Given the description of an element on the screen output the (x, y) to click on. 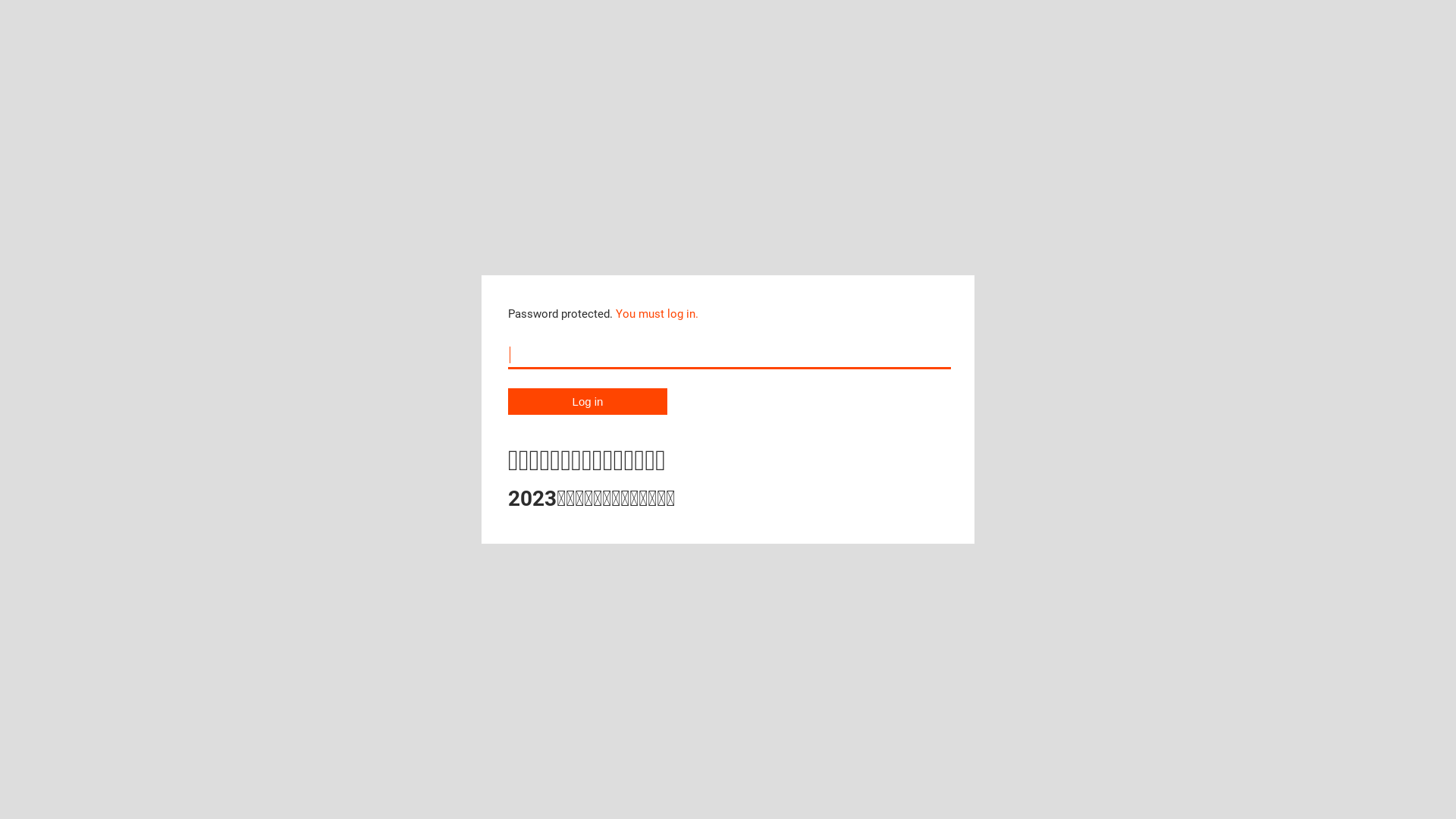
Log in Element type: text (587, 401)
